Given the description of an element on the screen output the (x, y) to click on. 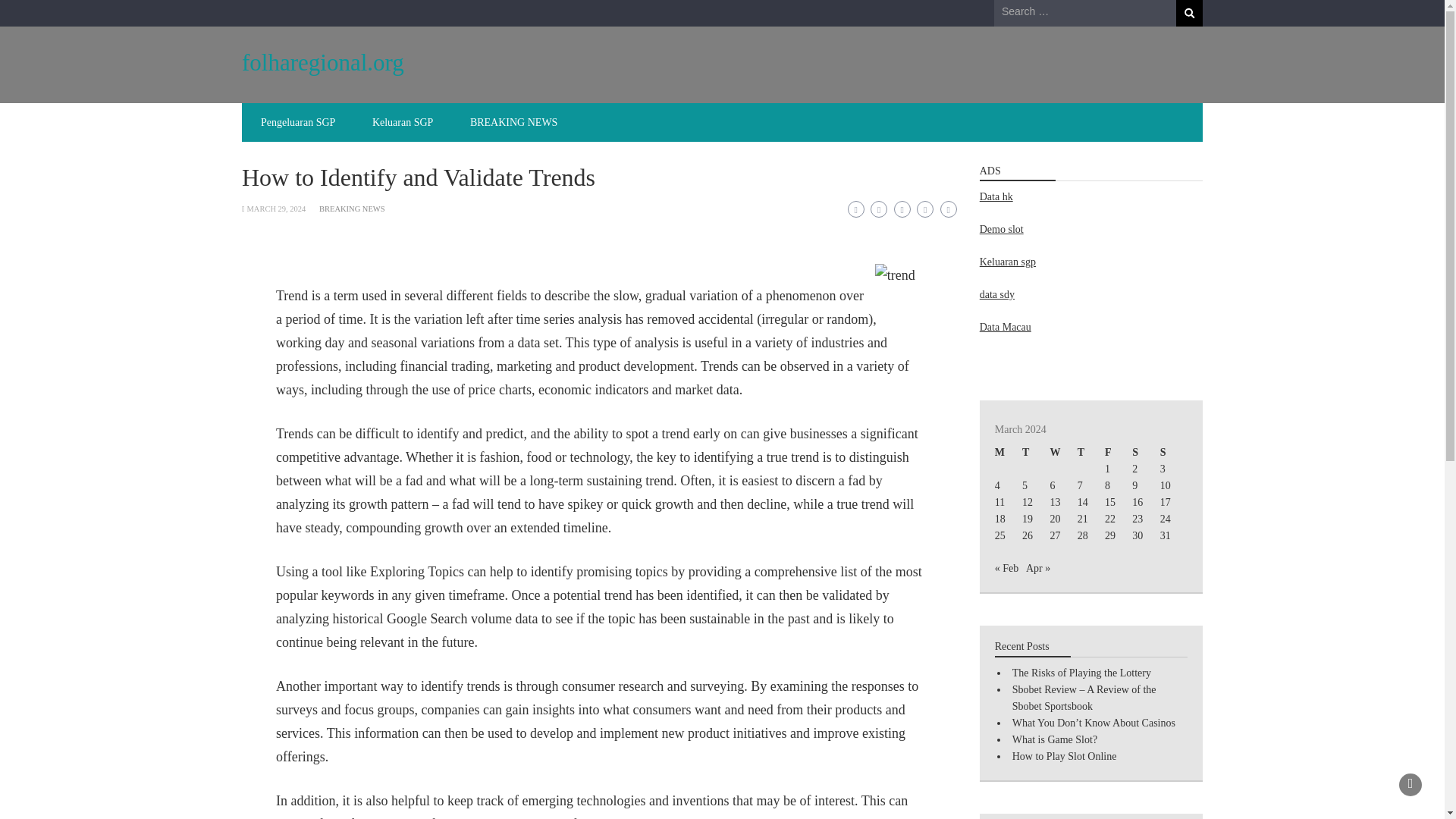
BREAKING NEWS (513, 122)
MARCH 29, 2024 (275, 208)
Data Macau (1004, 326)
Keluaran sgp (1007, 261)
BREAKING NEWS (351, 208)
Search (1189, 13)
14 (1082, 501)
Friday (1118, 452)
Data hk (996, 196)
Search (1189, 13)
Sunday (1174, 452)
Keluaran SGP (402, 122)
10 (1165, 485)
folharegional.org (322, 62)
Demo slot (1001, 229)
